Given the description of an element on the screen output the (x, y) to click on. 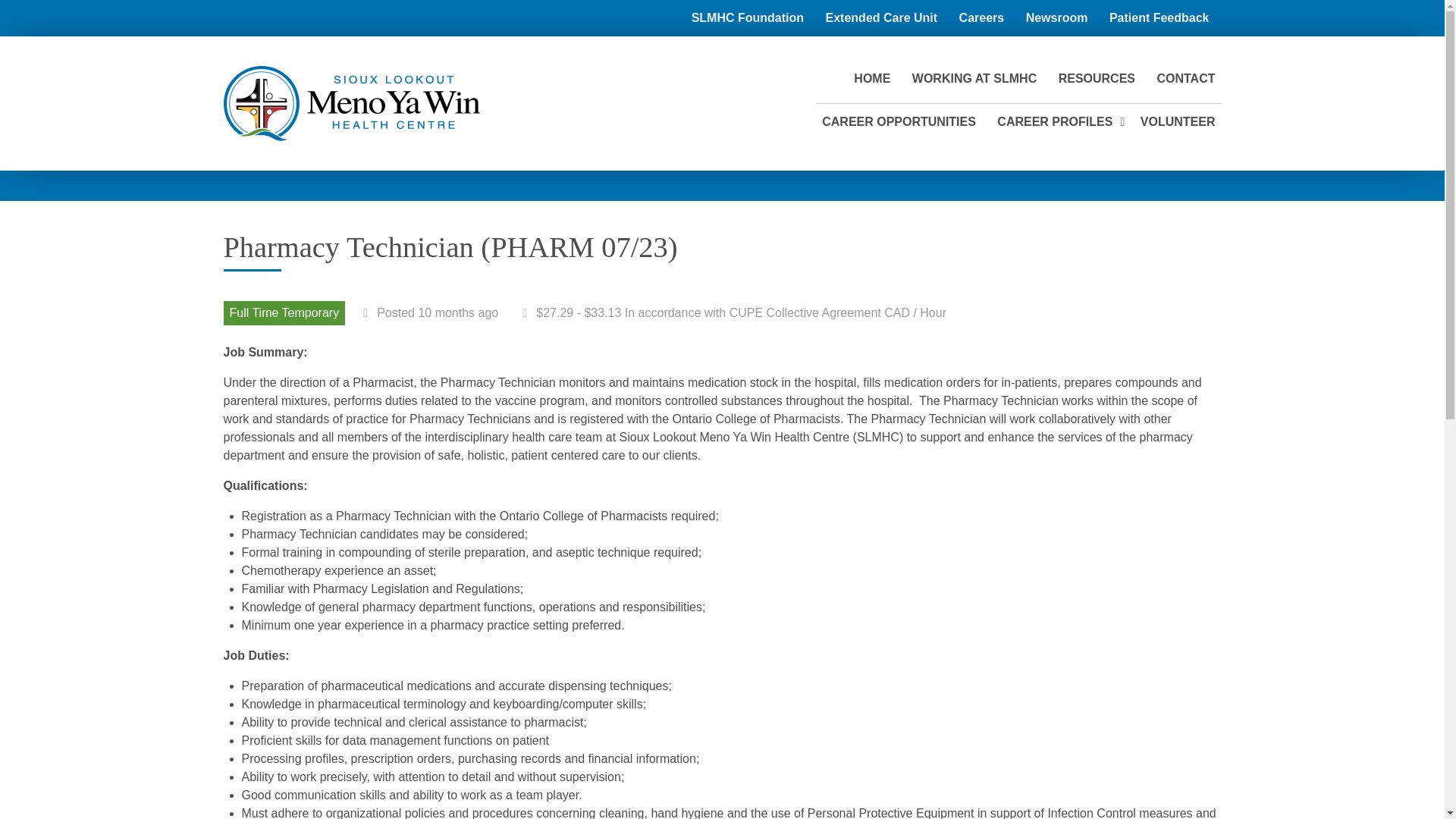
VOLUNTEER (1177, 121)
CAREER PROFILES (1054, 121)
Newsroom (1057, 17)
Careers (981, 17)
RESOURCES (1096, 78)
Extended Care Unit (881, 17)
SLMHC Foundation (747, 17)
CAREER OPPORTUNITIES (898, 121)
WORKING AT SLMHC (973, 78)
HOME (871, 78)
CONTACT (1185, 78)
Patient Feedback (1159, 17)
